Given the description of an element on the screen output the (x, y) to click on. 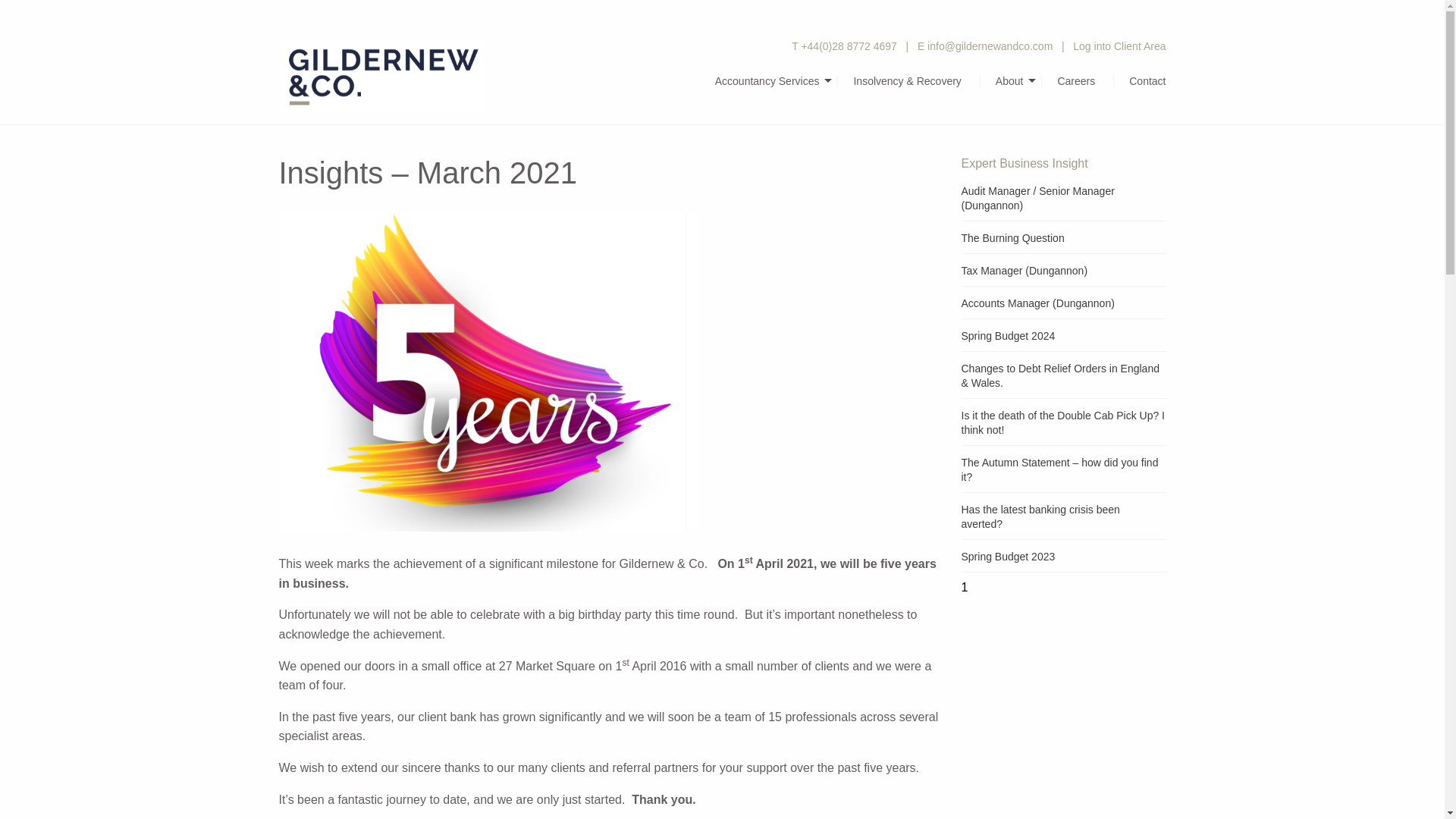
Log into Client Area (1119, 46)
Contact (1139, 81)
About (1010, 81)
Accountancy Services (769, 81)
Spring Budget 2024 (1007, 336)
The Burning Question (1012, 237)
Careers (1077, 81)
Is it the death of the Double Cab Pick Up? I think not! (1063, 422)
